Given the description of an element on the screen output the (x, y) to click on. 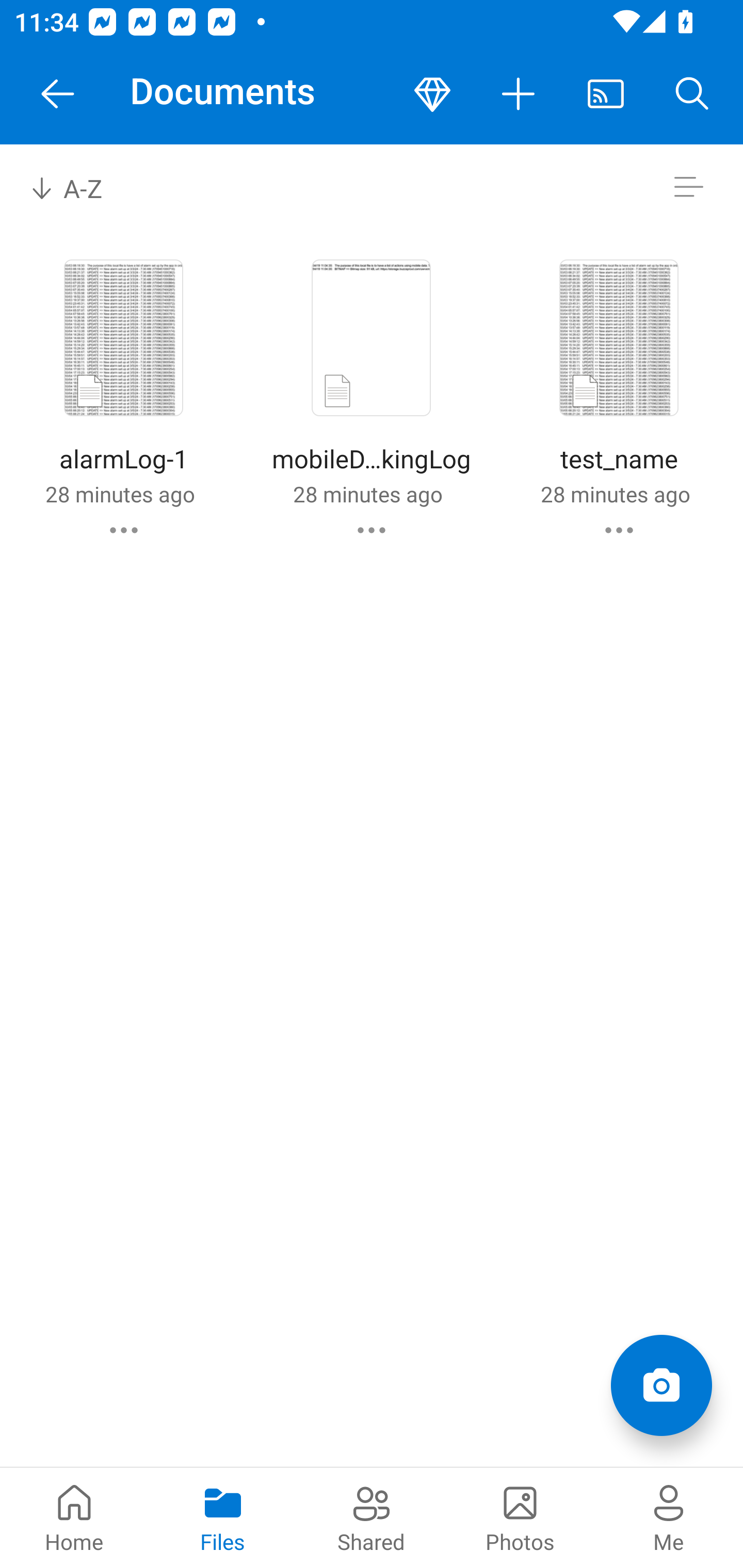
Navigate Up (57, 93)
Cast. Disconnected (605, 93)
Premium button (432, 93)
More actions button (518, 93)
Search button (692, 93)
A-Z Sort by combo box, sort by name, A to Z (80, 187)
Switch to list view (688, 187)
28 minutes ago (119, 493)
28 minutes ago (367, 493)
28 minutes ago (615, 493)
alarmLog-1 commands (123, 529)
mobileDataTrackingLog commands (371, 529)
test_name commands (618, 529)
Add items Scan (660, 1385)
Home pivot Home (74, 1517)
Shared pivot Shared (371, 1517)
Photos pivot Photos (519, 1517)
Me pivot Me (668, 1517)
